Given the description of an element on the screen output the (x, y) to click on. 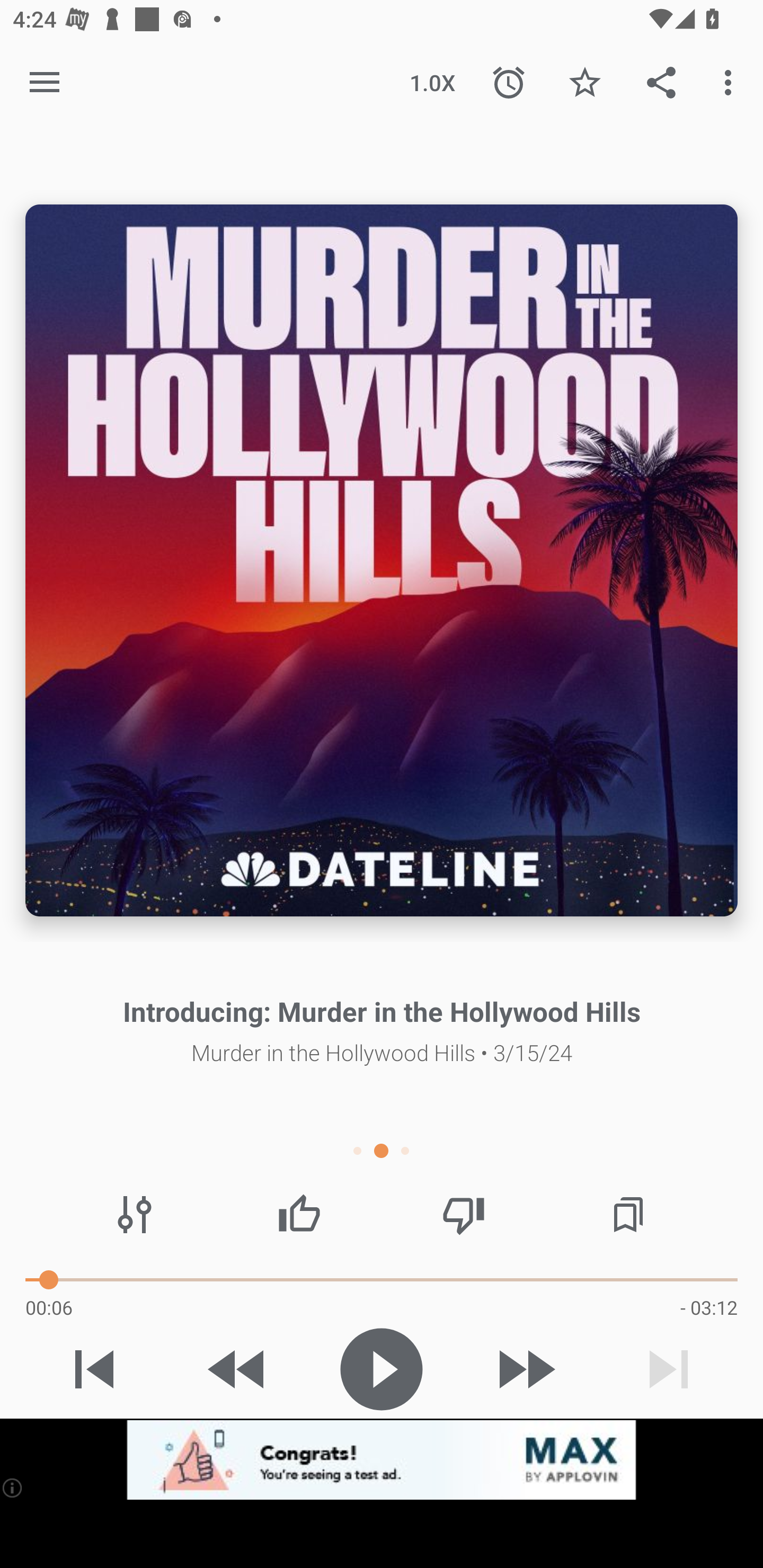
Open navigation sidebar (44, 82)
1.0X (432, 81)
Sleep Timer (508, 81)
Favorite (585, 81)
Share (661, 81)
More options (731, 81)
Episode description (381, 559)
Audio effects (134, 1214)
Thumbs up (298, 1214)
Thumbs down (463, 1214)
Chapters / Bookmarks (628, 1214)
- 03:12 (708, 1306)
Previous track (94, 1369)
Skip 15s backward (237, 1369)
Play / Pause (381, 1369)
Skip 30s forward (525, 1369)
Next track (668, 1369)
app-monetization (381, 1459)
(i) (11, 1487)
